Given the description of an element on the screen output the (x, y) to click on. 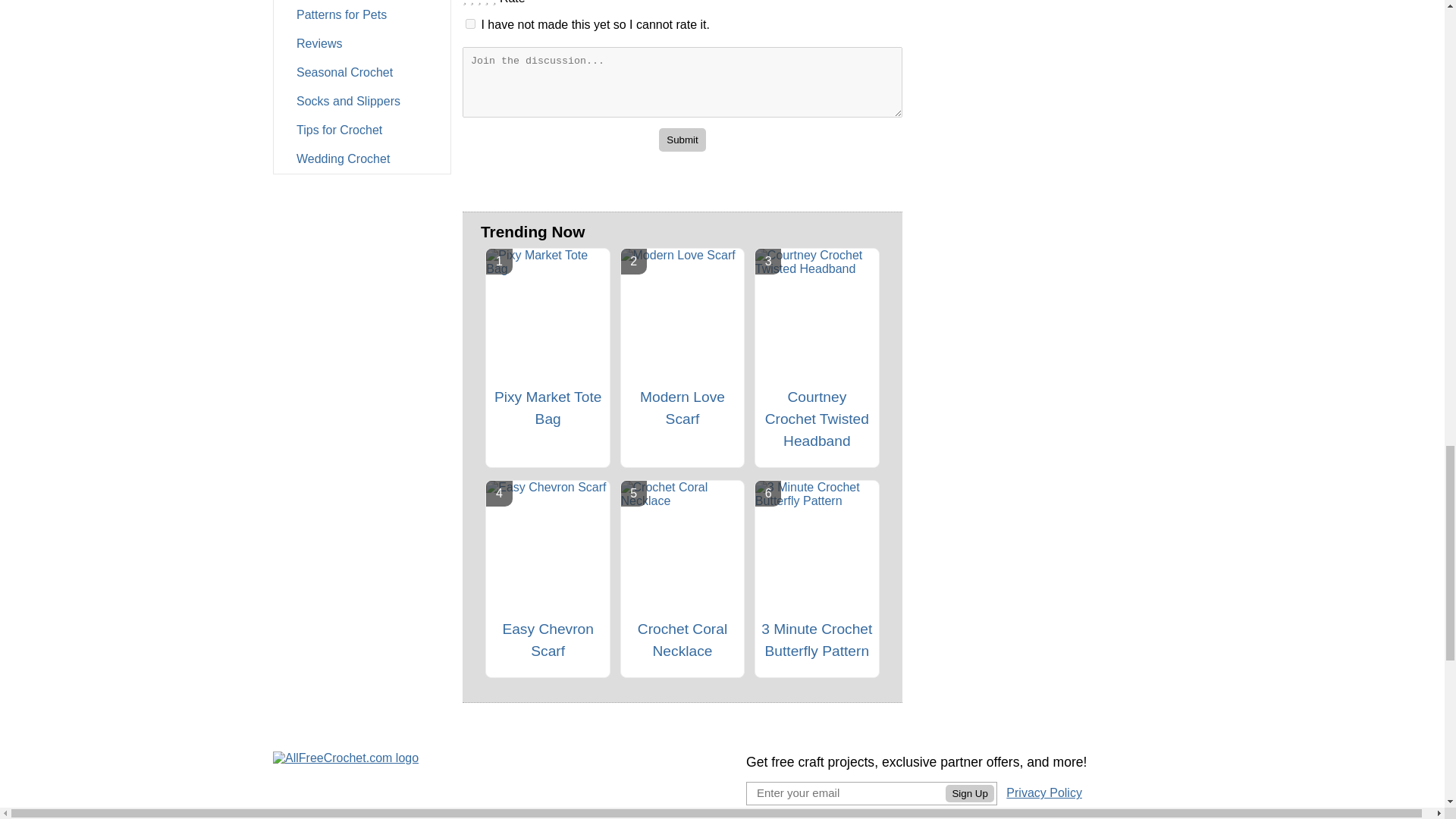
1 (470, 23)
Submit (681, 139)
